Given the description of an element on the screen output the (x, y) to click on. 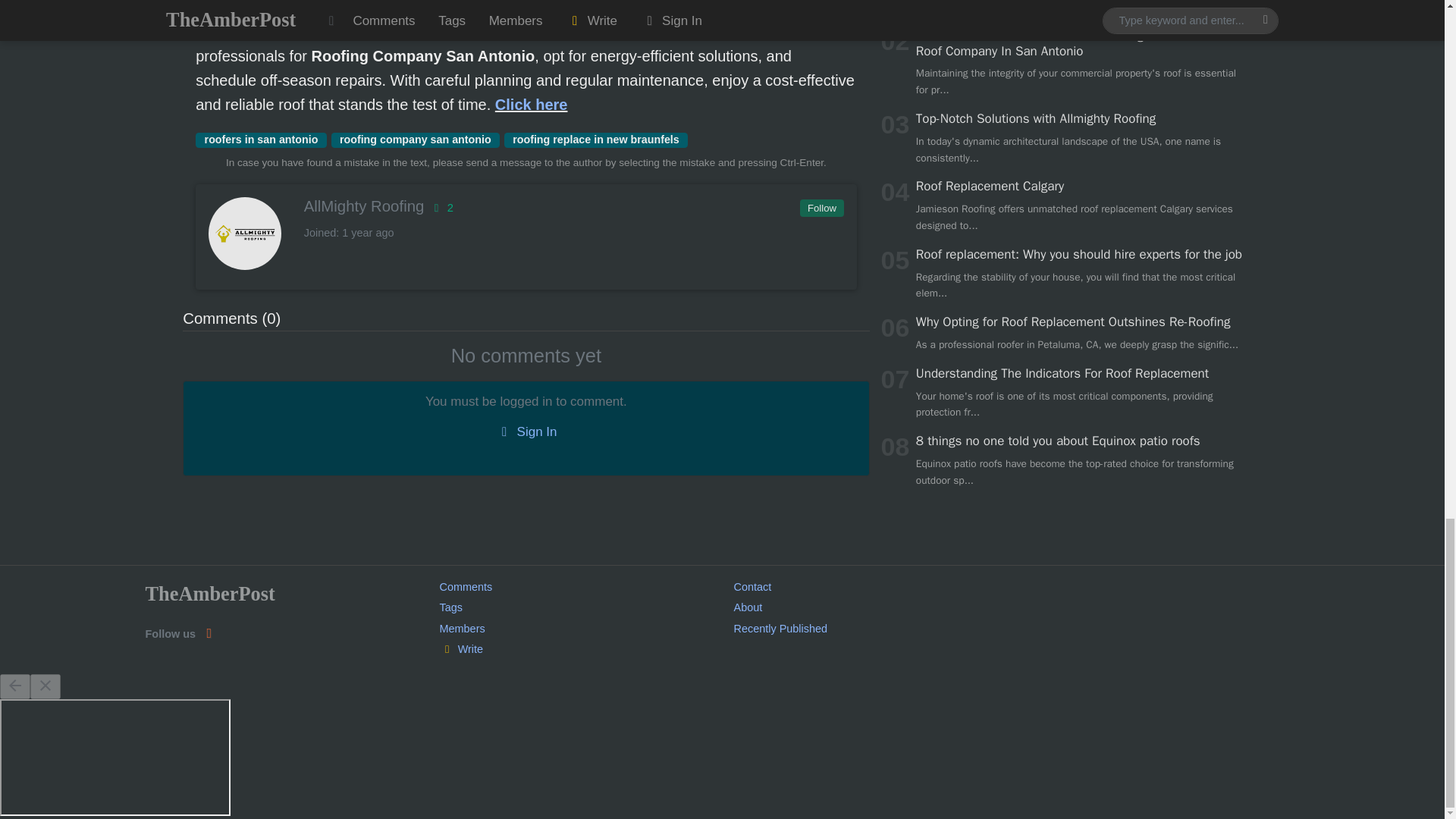
roofing company san antonio (414, 140)
AllMighty Roofing 2 (525, 206)
roofing company san antonio (414, 140)
Follow (821, 208)
roofing replace in new braunfels (595, 140)
Sign In (525, 431)
Click here (531, 104)
Rating (440, 207)
roofers in san antonio (260, 140)
roofers in san antonio (260, 140)
